Given the description of an element on the screen output the (x, y) to click on. 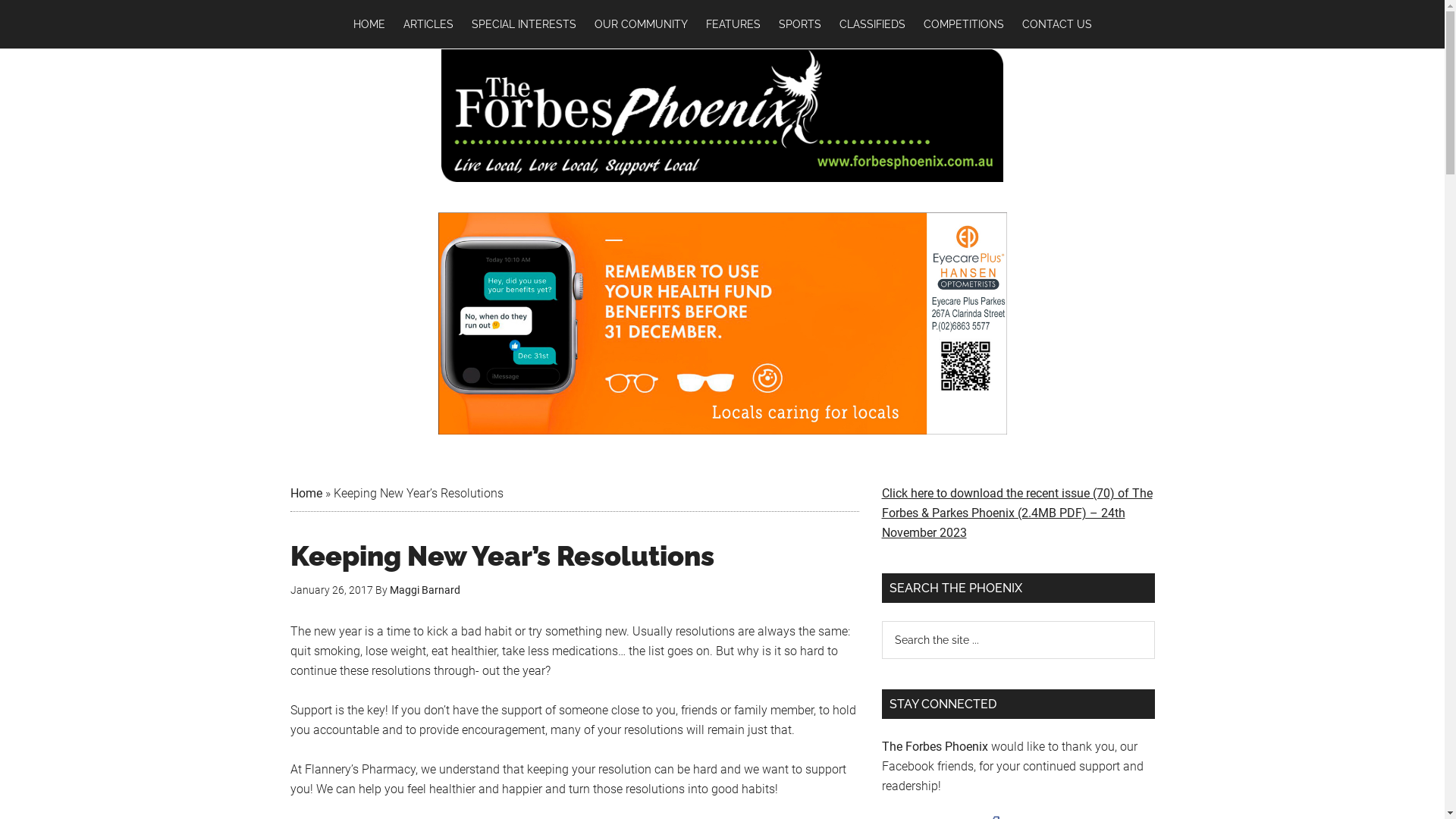
The Forbes Phoenix Element type: text (934, 746)
Forbes Phoenix Element type: text (721, 115)
SPORTS Element type: text (799, 24)
FEATURES Element type: text (732, 24)
HOME Element type: text (368, 24)
Maggi Barnard Element type: text (424, 589)
Search Element type: text (1154, 620)
Home Element type: text (305, 493)
CONTACT US Element type: text (1056, 24)
SPECIAL INTERESTS Element type: text (523, 24)
CLASSIFIEDS Element type: text (871, 24)
ARTICLES Element type: text (428, 24)
OUR COMMUNITY Element type: text (640, 24)
COMPETITIONS Element type: text (963, 24)
